Given the description of an element on the screen output the (x, y) to click on. 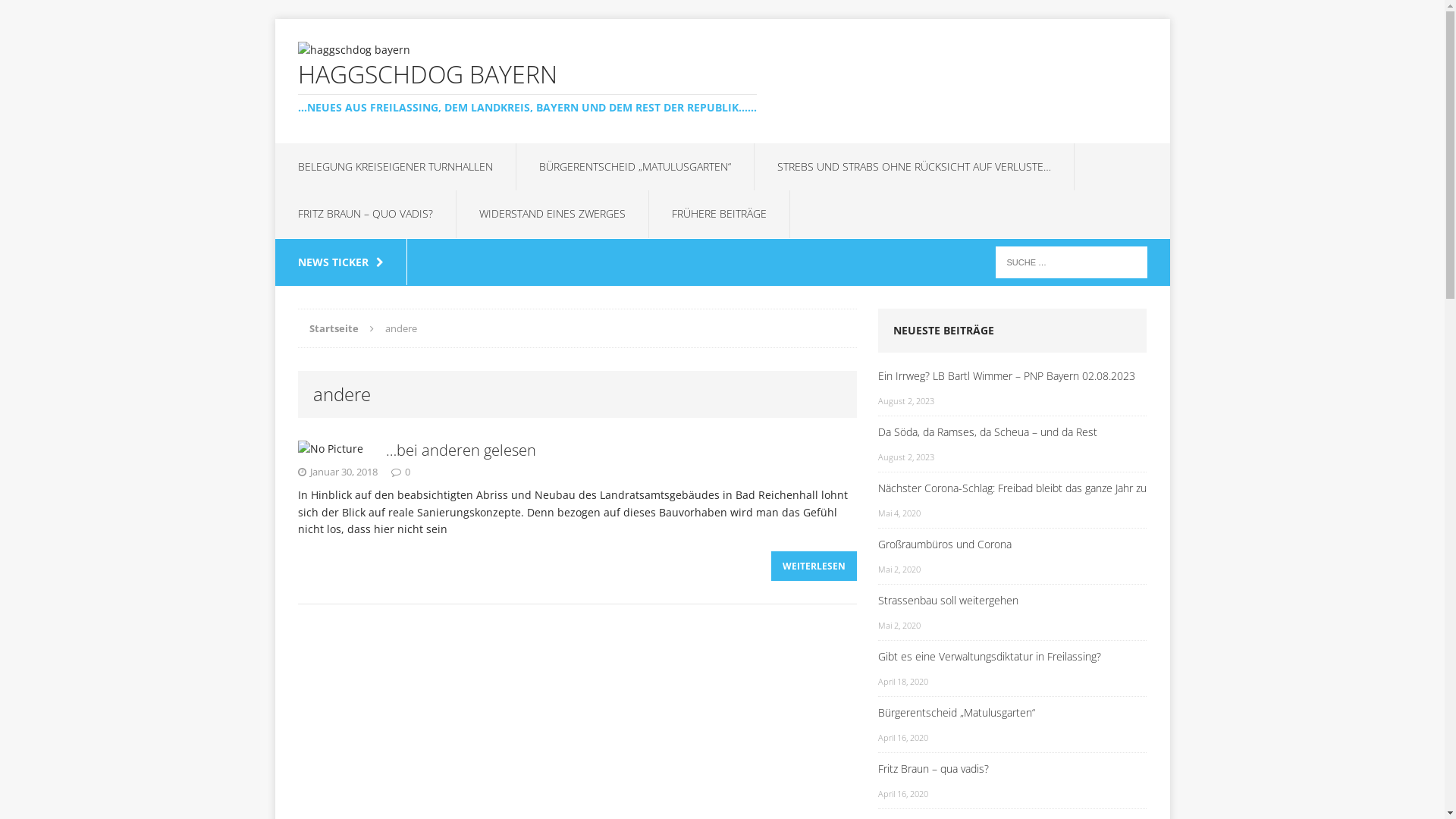
Strassenbau soll weitergehen Element type: text (1012, 600)
WIDERSTAND EINES ZWERGES Element type: text (552, 213)
BELEGUNG KREISEIGENER TURNHALLEN Element type: text (394, 166)
0 Element type: text (407, 471)
Gibt es eine Verwaltungsdiktatur in Freilassing? Element type: text (1012, 656)
Startseite Element type: text (333, 328)
WEITERLESEN Element type: text (813, 565)
Suche Element type: text (37, 15)
